Given the description of an element on the screen output the (x, y) to click on. 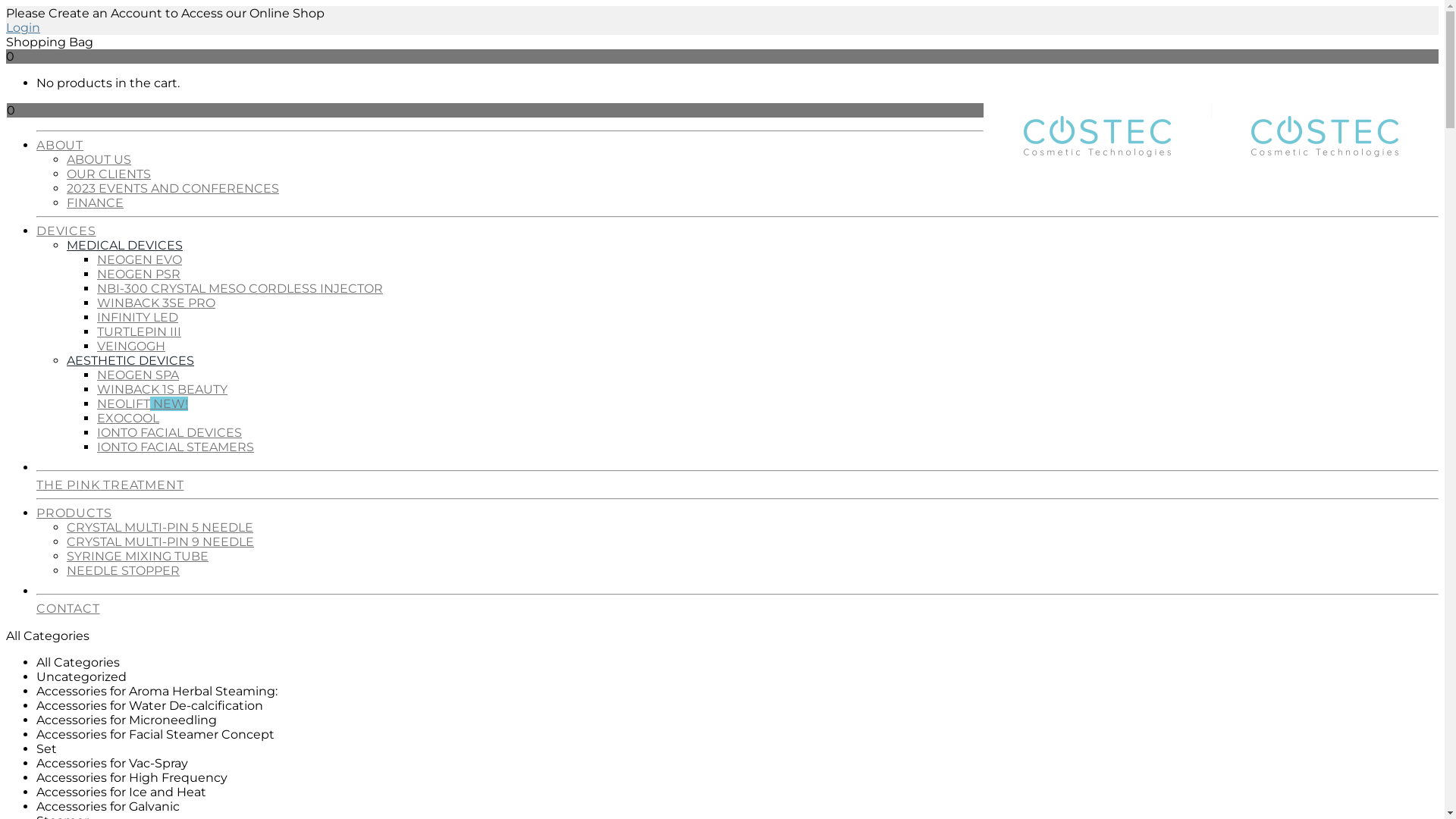
WINBACK 1S BEAUTY Element type: text (162, 389)
2023 EVENTS AND CONFERENCES Element type: text (172, 188)
MEDICAL DEVICES Element type: text (124, 245)
SYRINGE MIXING TUBE Element type: text (137, 556)
AESTHETIC DEVICES Element type: text (130, 360)
ABOUT Element type: text (737, 141)
WINBACK 3SE PRO Element type: text (156, 302)
PRODUCTS Element type: text (737, 509)
IONTO FACIAL DEVICES Element type: text (169, 432)
VEINGOGH Element type: text (131, 345)
IONTO FACIAL STEAMERS Element type: text (175, 446)
NEOLIFT NEW! Element type: text (142, 403)
EXOCOOL Element type: text (128, 418)
NEOGEN PSR Element type: text (138, 273)
NBI-300 CRYSTAL MESO CORDLESS INJECTOR Element type: text (239, 288)
CONTACT Element type: text (737, 604)
CRYSTAL MULTI-PIN 5 NEEDLE Element type: text (159, 527)
Login Element type: text (23, 27)
NEOGEN SPA Element type: text (137, 374)
ABOUT US Element type: text (98, 159)
NEEDLE STOPPER Element type: text (122, 570)
CRYSTAL MULTI-PIN 9 NEEDLE Element type: text (160, 541)
NEOGEN EVO Element type: text (139, 259)
OUR CLIENTS Element type: text (108, 173)
TURTLEPIN III Element type: text (139, 331)
THE PINK TREATMENT Element type: text (737, 481)
FINANCE Element type: text (94, 202)
DEVICES Element type: text (737, 227)
INFINITY LED Element type: text (137, 317)
